Given the description of an element on the screen output the (x, y) to click on. 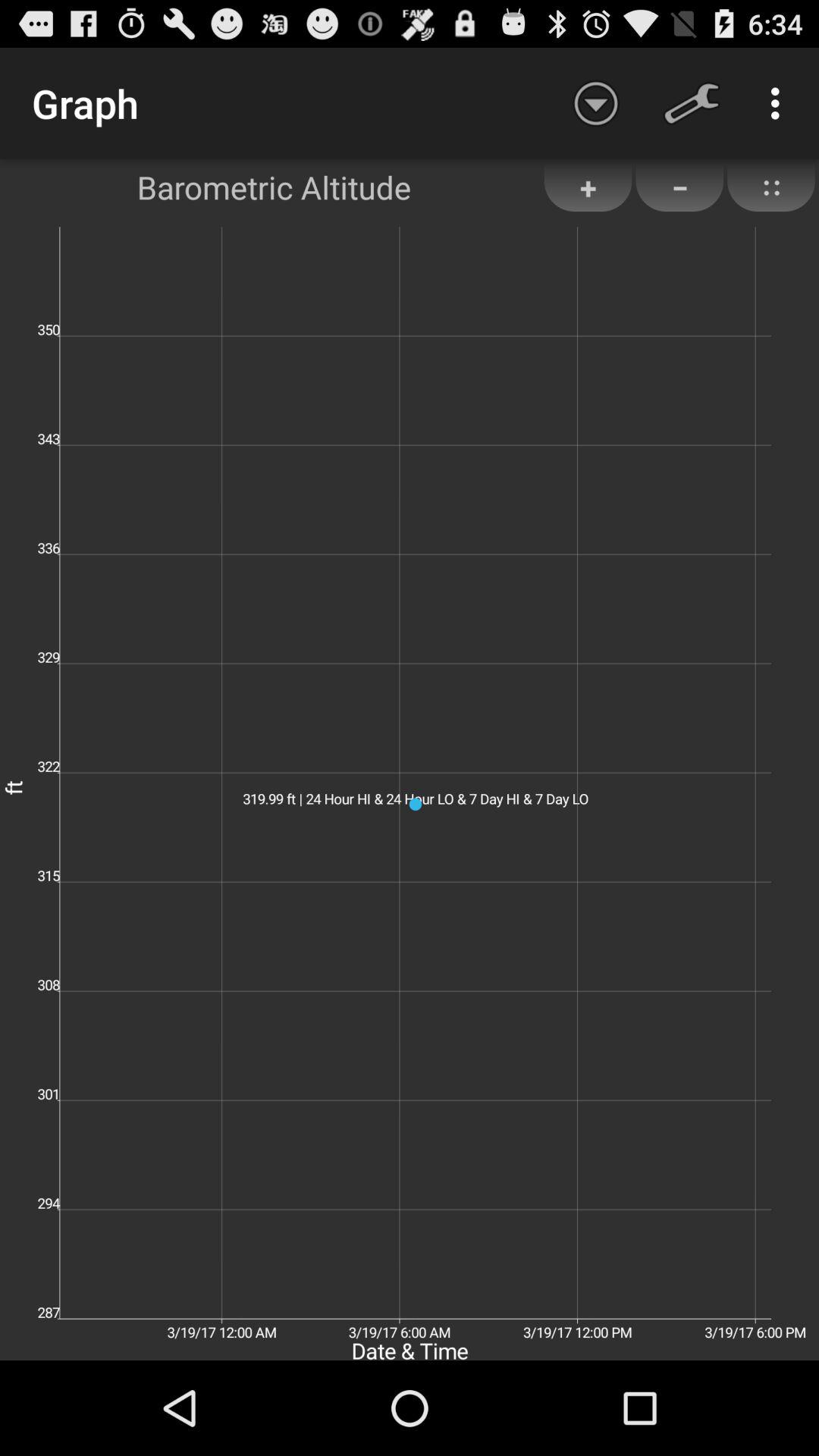
open the item next to the barometric altitude app (587, 187)
